Given the description of an element on the screen output the (x, y) to click on. 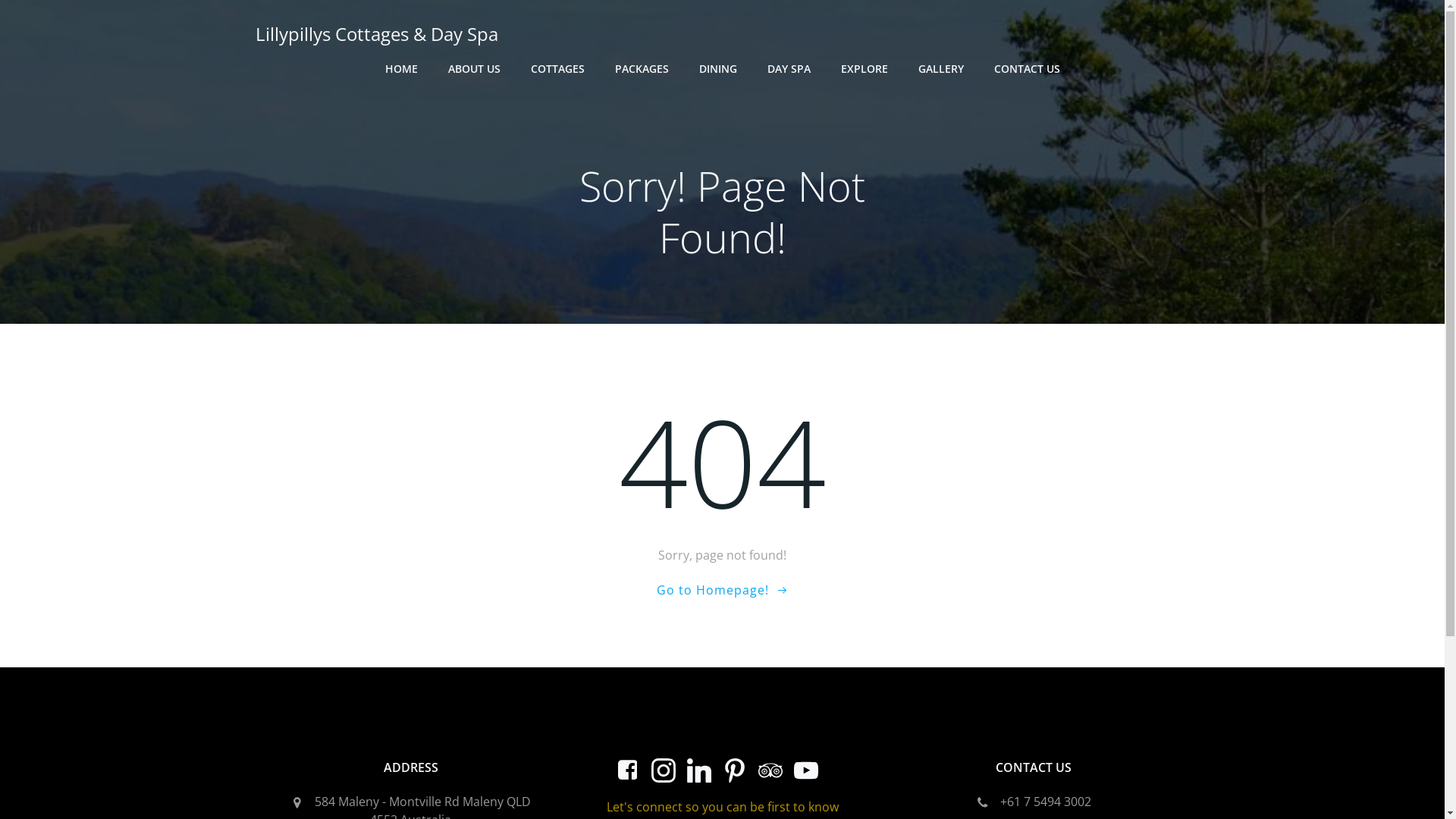
GALLERY Element type: text (940, 68)
HOME Element type: text (401, 68)
Lillypillys Cottages & Day Spa Element type: text (375, 33)
DINING Element type: text (718, 68)
EXPLORE Element type: text (863, 68)
+61 7 5494 3002 Element type: text (1033, 801)
COTTAGES Element type: text (557, 68)
ABOUT US Element type: text (473, 68)
Go to Homepage! Element type: text (722, 589)
PACKAGES Element type: text (641, 68)
CONTACT US Element type: text (1026, 68)
DAY SPA Element type: text (788, 68)
